Given the description of an element on the screen output the (x, y) to click on. 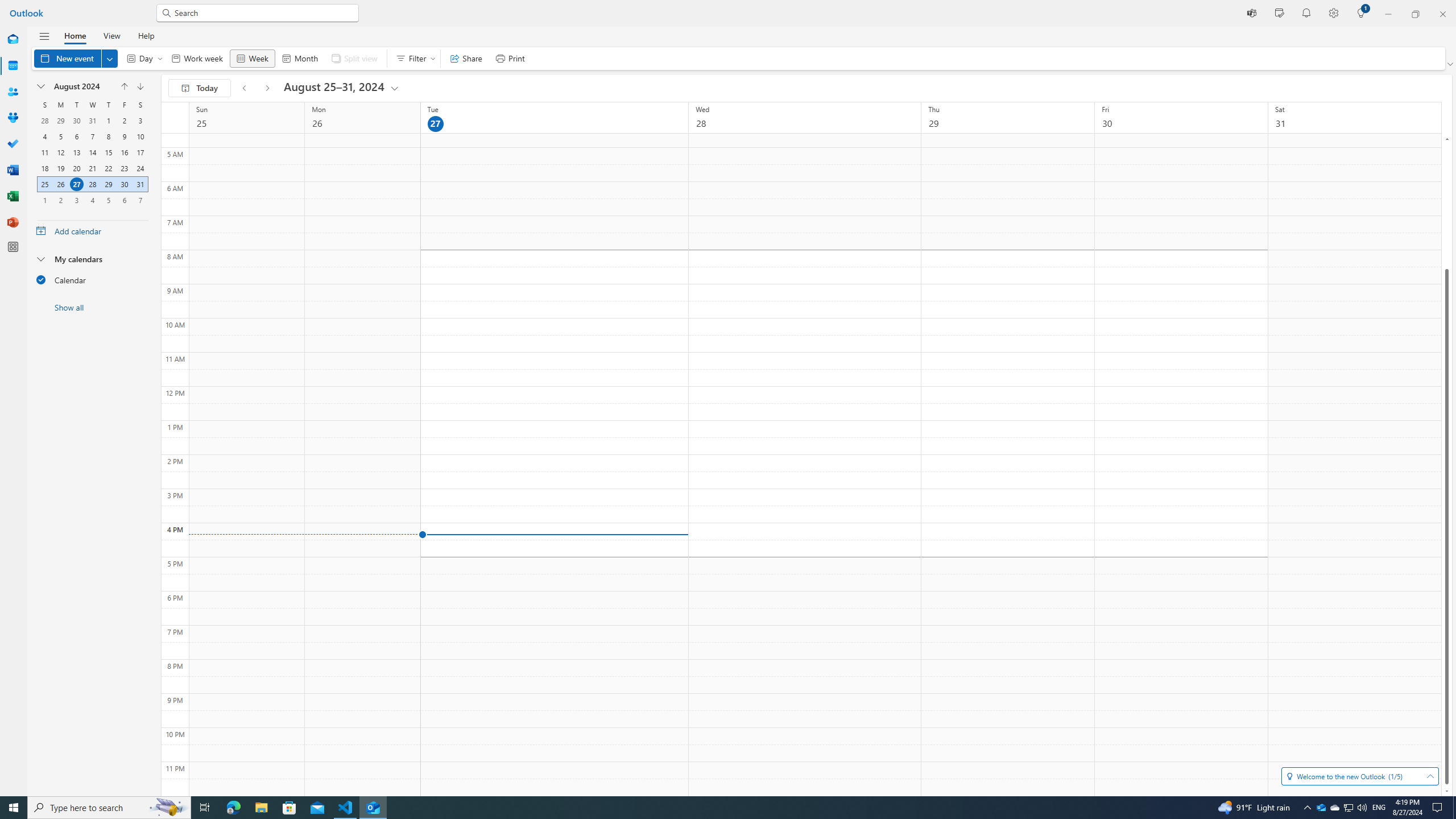
23, August, 2024 (124, 168)
Print (510, 58)
20, August, 2024 (76, 168)
View (111, 35)
4, August, 2024 (44, 136)
28, August, 2024 (92, 184)
9, August, 2024 (124, 136)
7, September, 2024 (140, 200)
10, August, 2024 (140, 136)
3, September, 2024 (76, 200)
26, August, 2024 (60, 184)
17, August, 2024 (140, 152)
19, August, 2024 (59, 168)
27, August, 2024 (75, 183)
Thursday (108, 104)
